Given the description of an element on the screen output the (x, y) to click on. 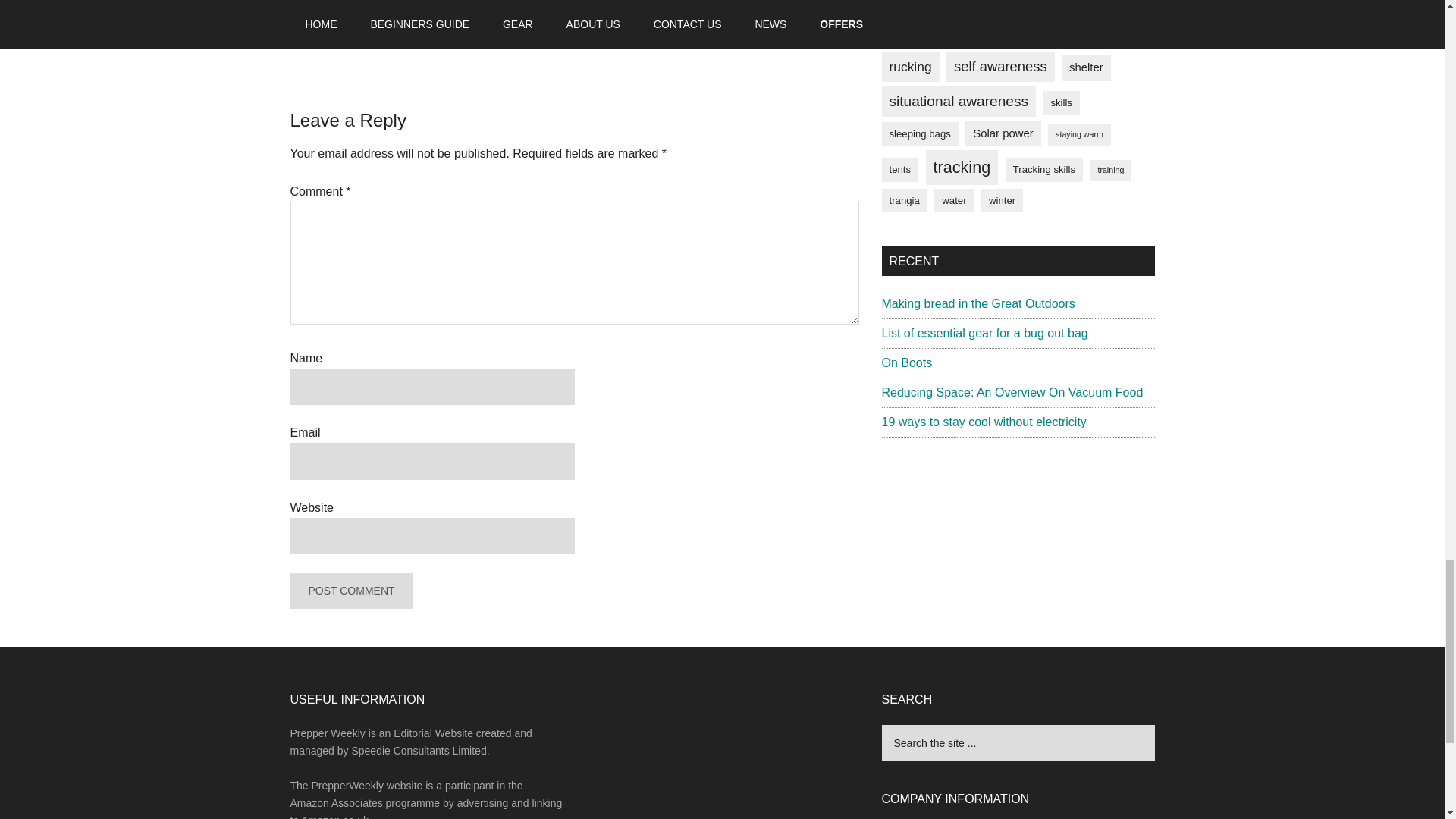
trangia (513, 37)
Post Comment (350, 590)
Post Comment (350, 590)
MSR (442, 37)
Gear (362, 19)
jetboil (411, 37)
cooking (373, 37)
stoves (475, 37)
